Given the description of an element on the screen output the (x, y) to click on. 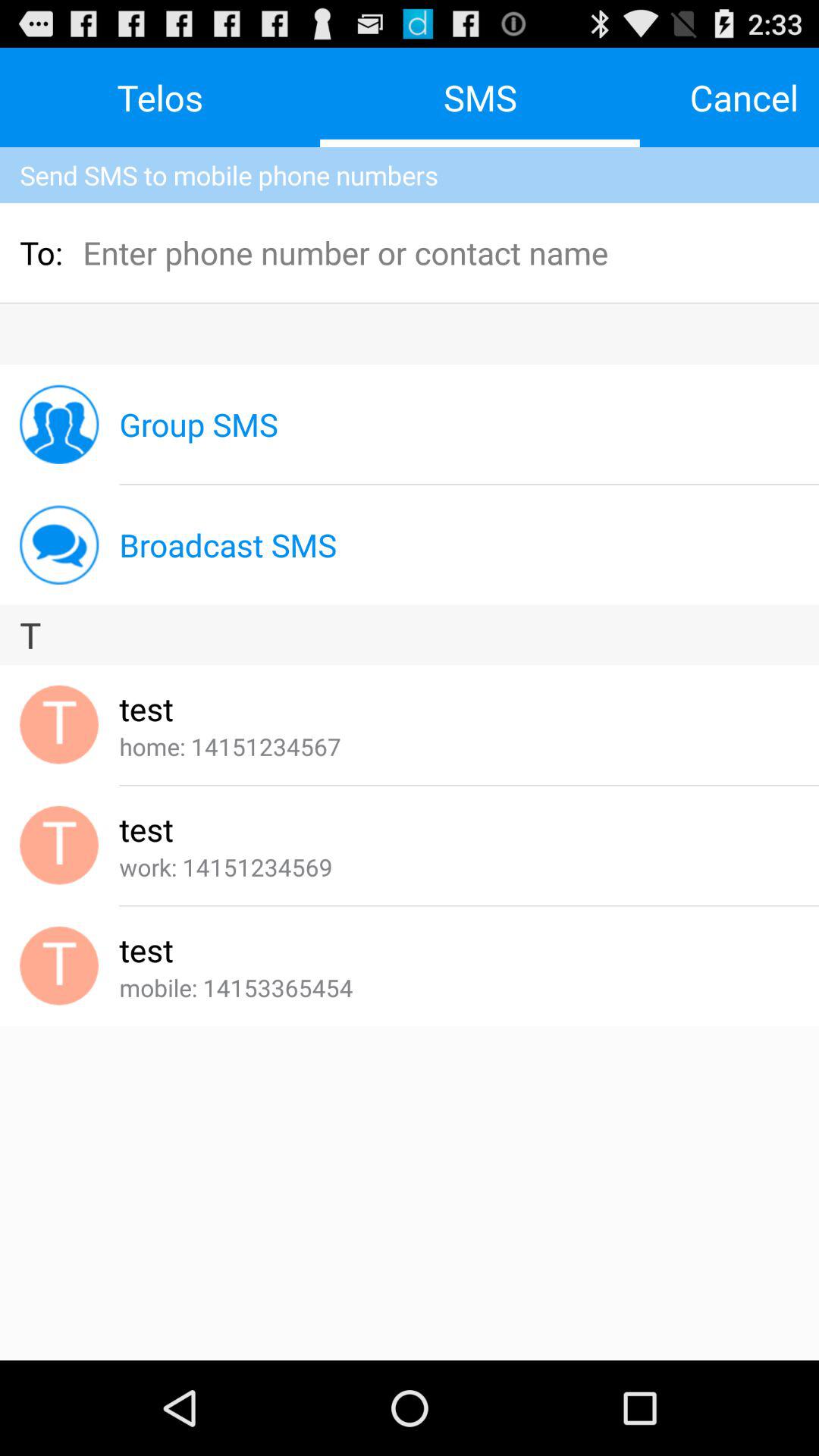
open mobile: 14153365454 icon (236, 987)
